Given the description of an element on the screen output the (x, y) to click on. 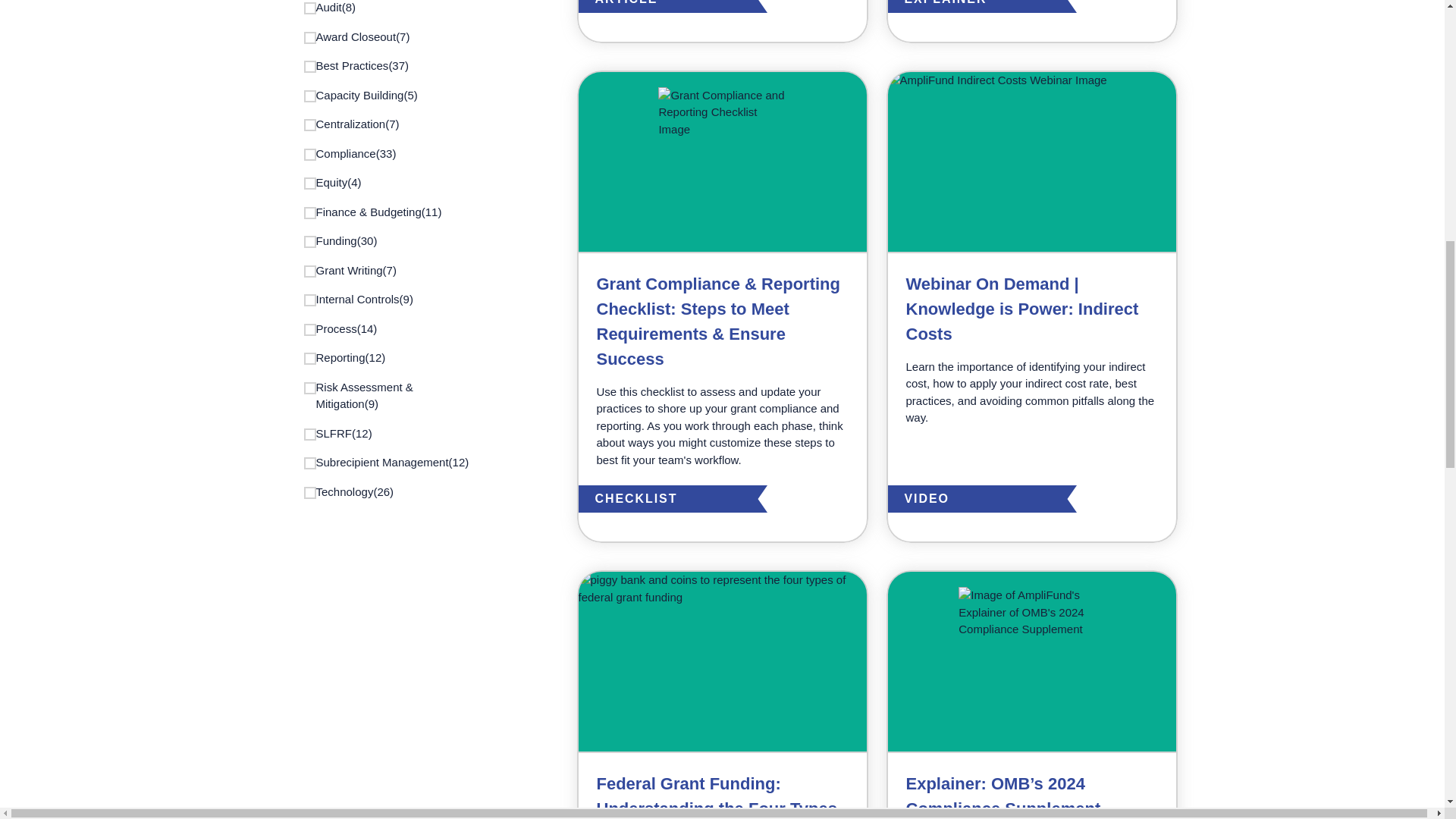
capacity-building (308, 95)
funding (308, 241)
centralization (308, 124)
subrecipient-management (308, 463)
best-practices (308, 66)
compliance (308, 154)
internal-controls (308, 300)
equity (308, 183)
grant-writing (308, 271)
award-closeout (308, 37)
reporting (308, 358)
process (308, 328)
finance-budgeting (308, 212)
audit (308, 8)
slfrf (308, 433)
